Given the description of an element on the screen output the (x, y) to click on. 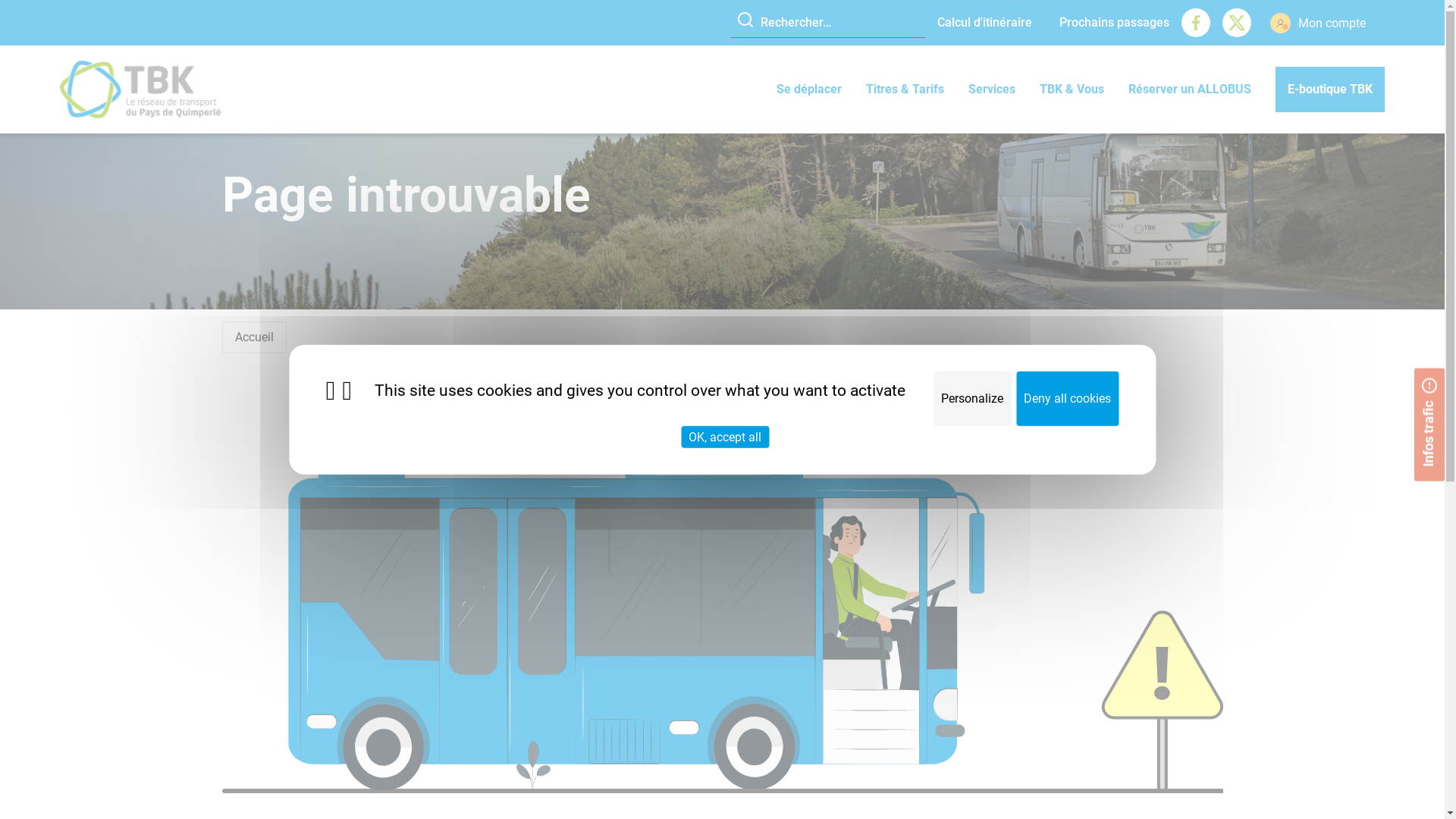
Rechercher Element type: text (745, 23)
TBK Accueil Element type: hover (139, 89)
OK, accept all Element type: text (724, 436)
Titres & Tarifs Element type: text (904, 89)
Mon compte Element type: text (1317, 23)
Deny all cookies Element type: text (1067, 398)
Suivez-nous sur X/Twitter Element type: text (1236, 22)
Personalize Element type: text (971, 398)
TBK & Vous Element type: text (1071, 89)
E-boutique TBK Element type: text (1329, 89)
Accueil Element type: text (254, 336)
Suivez-nous sur facebook Element type: text (1195, 22)
Prochains passages Element type: text (1114, 22)
Services Element type: text (991, 89)
